Given the description of an element on the screen output the (x, y) to click on. 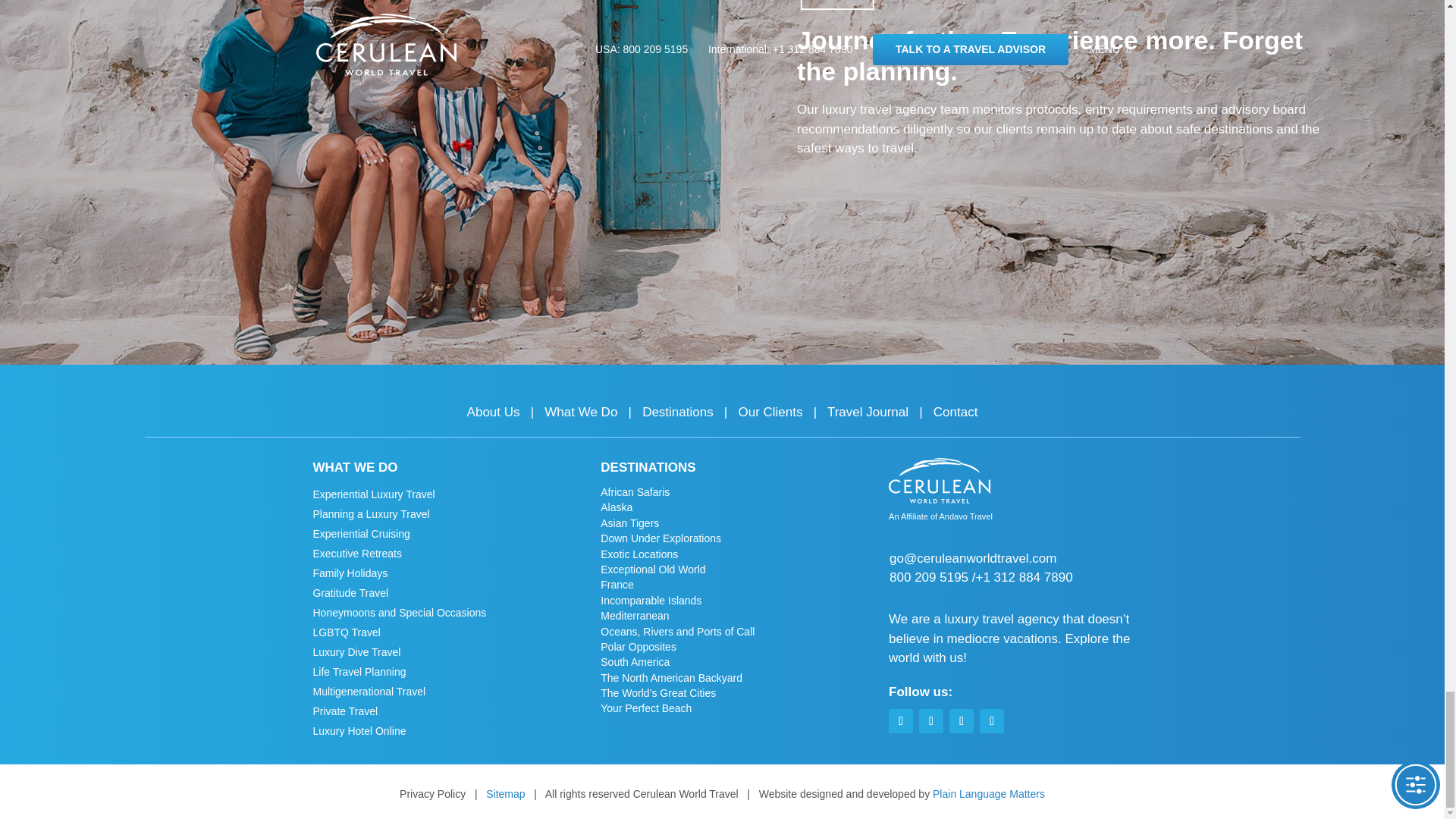
Follow on Instagram (930, 721)
Follow on Facebook (900, 721)
Follow on X (991, 721)
Follow on LinkedIn (961, 721)
safe-travels-badge-blue (836, 6)
